Given the description of an element on the screen output the (x, y) to click on. 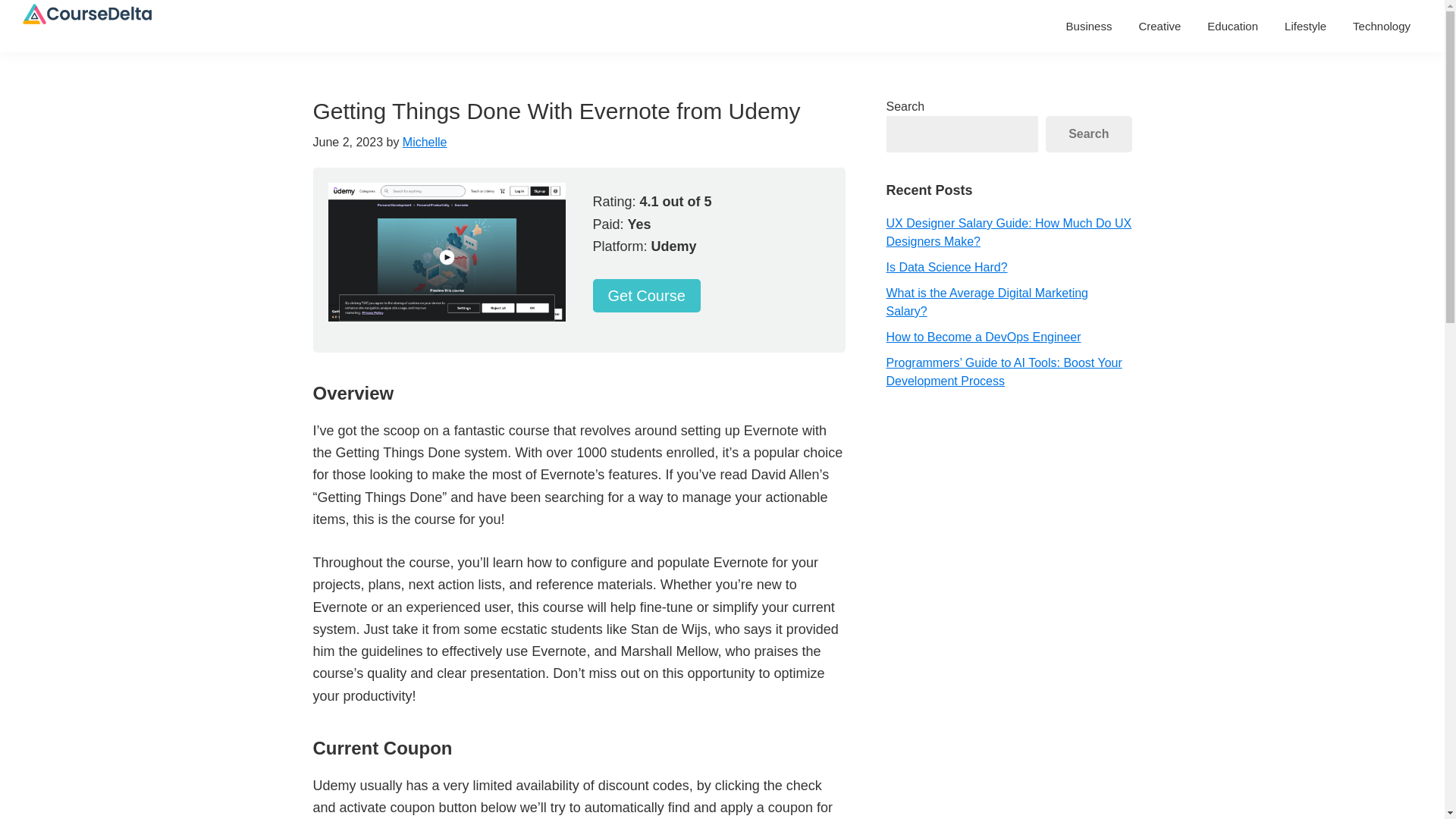
Is Data Science Hard? (946, 267)
Search (1088, 134)
Education (1232, 25)
Get Course (646, 295)
Business (1089, 25)
Technology (1381, 25)
UX Designer Salary Guide: How Much Do UX Designers Make? (1008, 232)
Lifestyle (1305, 25)
Creative (1159, 25)
How to Become a DevOps Engineer (982, 336)
What is the Average Digital Marketing Salary? (986, 301)
Michelle (424, 141)
